Given the description of an element on the screen output the (x, y) to click on. 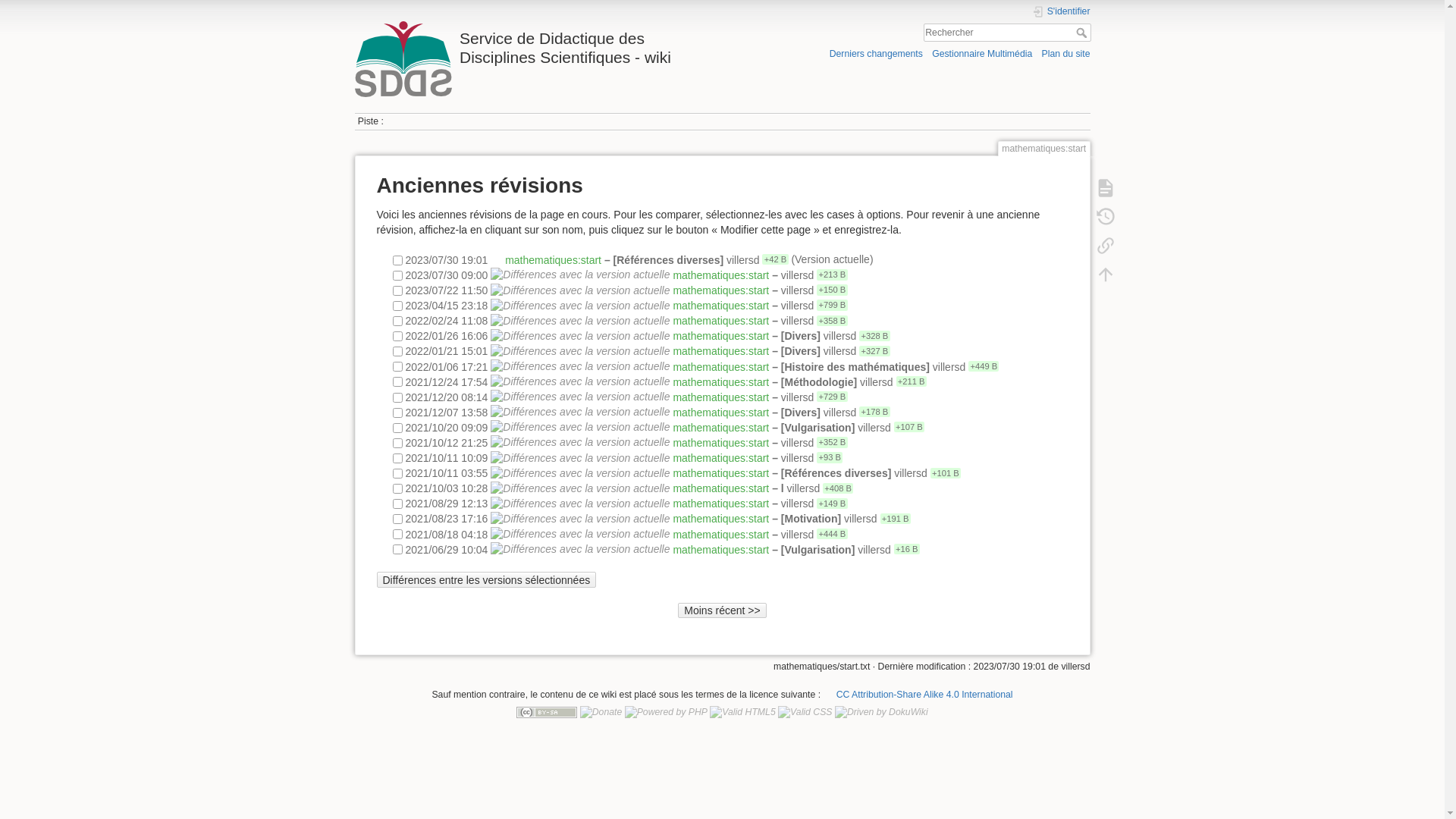
Haut de page [t] Element type: hover (1104, 274)
mathematiques:start Element type: text (720, 335)
mathematiques:start Element type: text (553, 259)
CC Attribution-Share Alike 4.0 International Element type: text (918, 694)
Afficher la page [v] Element type: hover (1104, 187)
mathematiques:start Element type: text (720, 305)
mathematiques:start Element type: text (720, 442)
mathematiques:start Element type: text (720, 533)
mathematiques:start Element type: text (720, 274)
Plan du site Element type: text (1065, 53)
Driven by DokuWiki Element type: hover (881, 711)
Derniers changements Element type: text (875, 53)
mathematiques:start Element type: text (720, 320)
mathematiques:start Element type: text (720, 457)
mathematiques:start Element type: text (720, 488)
S'identifier Element type: text (1060, 11)
mathematiques:start Element type: text (720, 381)
Rechercher Element type: text (1082, 32)
mathematiques:start Element type: text (720, 473)
Powered by PHP Element type: hover (665, 711)
Valid HTML5 Element type: hover (742, 711)
mathematiques:start Element type: text (720, 518)
Valid CSS Element type: hover (804, 711)
[F] Element type: hover (1007, 32)
mathematiques:start Element type: text (720, 411)
mathematiques:start Element type: text (720, 396)
Liens de retour Element type: hover (1104, 245)
mathematiques:start Element type: text (720, 290)
mathematiques:start Element type: text (720, 426)
Service de Didactique des Disciplines Scientifiques - wiki Element type: text (534, 43)
mathematiques:start Element type: text (720, 351)
mathematiques:start Element type: text (720, 366)
mathematiques:start Element type: text (720, 548)
Donate Element type: hover (601, 711)
mathematiques:start Element type: text (720, 503)
